Given the description of an element on the screen output the (x, y) to click on. 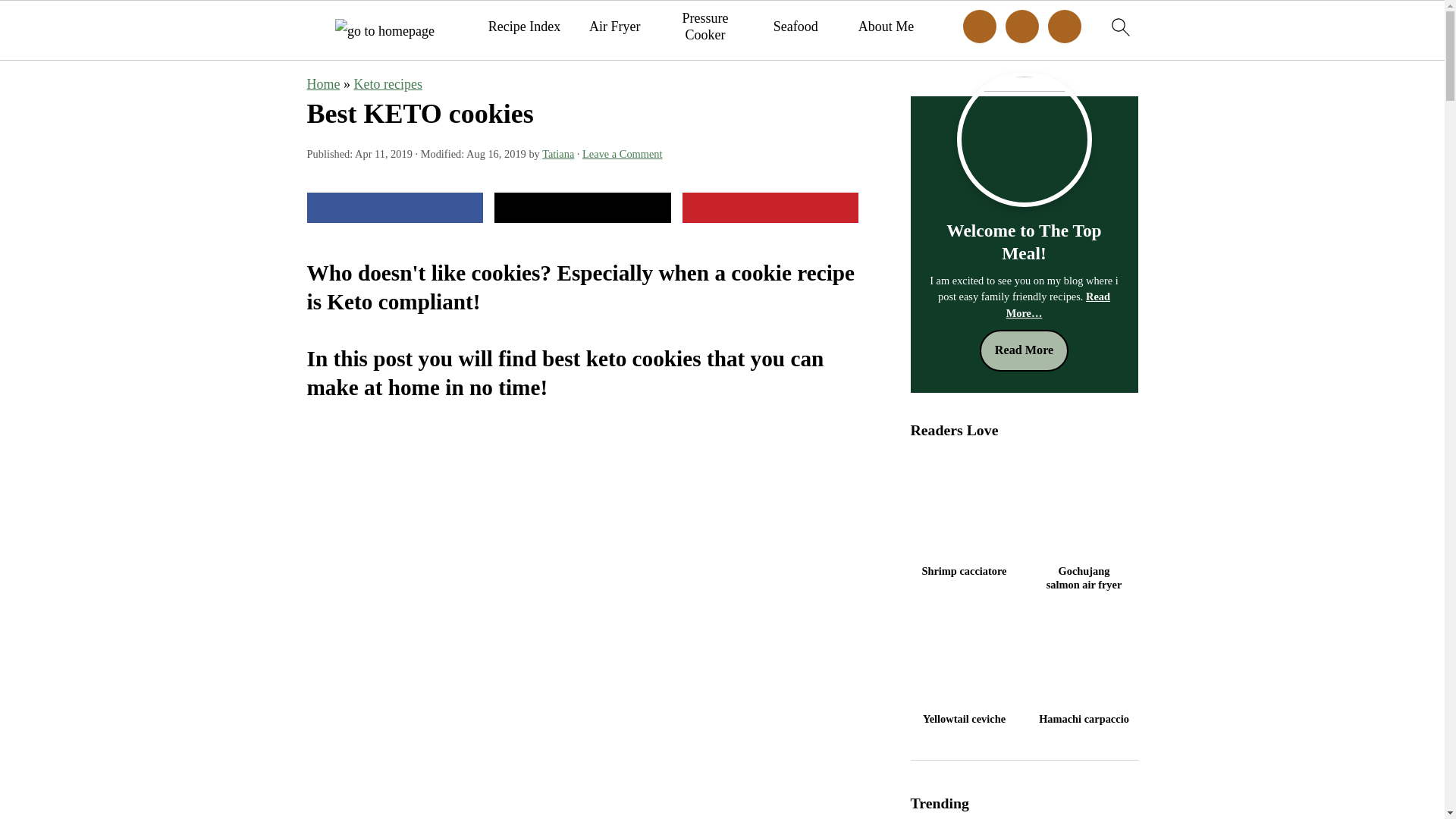
search icon (1119, 26)
Recipe Index (523, 27)
Save to Pinterest (770, 207)
Pressure Cooker (705, 26)
Share on X (583, 207)
Seafood (795, 27)
Air Fryer (614, 27)
About Me (886, 27)
Share on Facebook (394, 207)
